Given the description of an element on the screen output the (x, y) to click on. 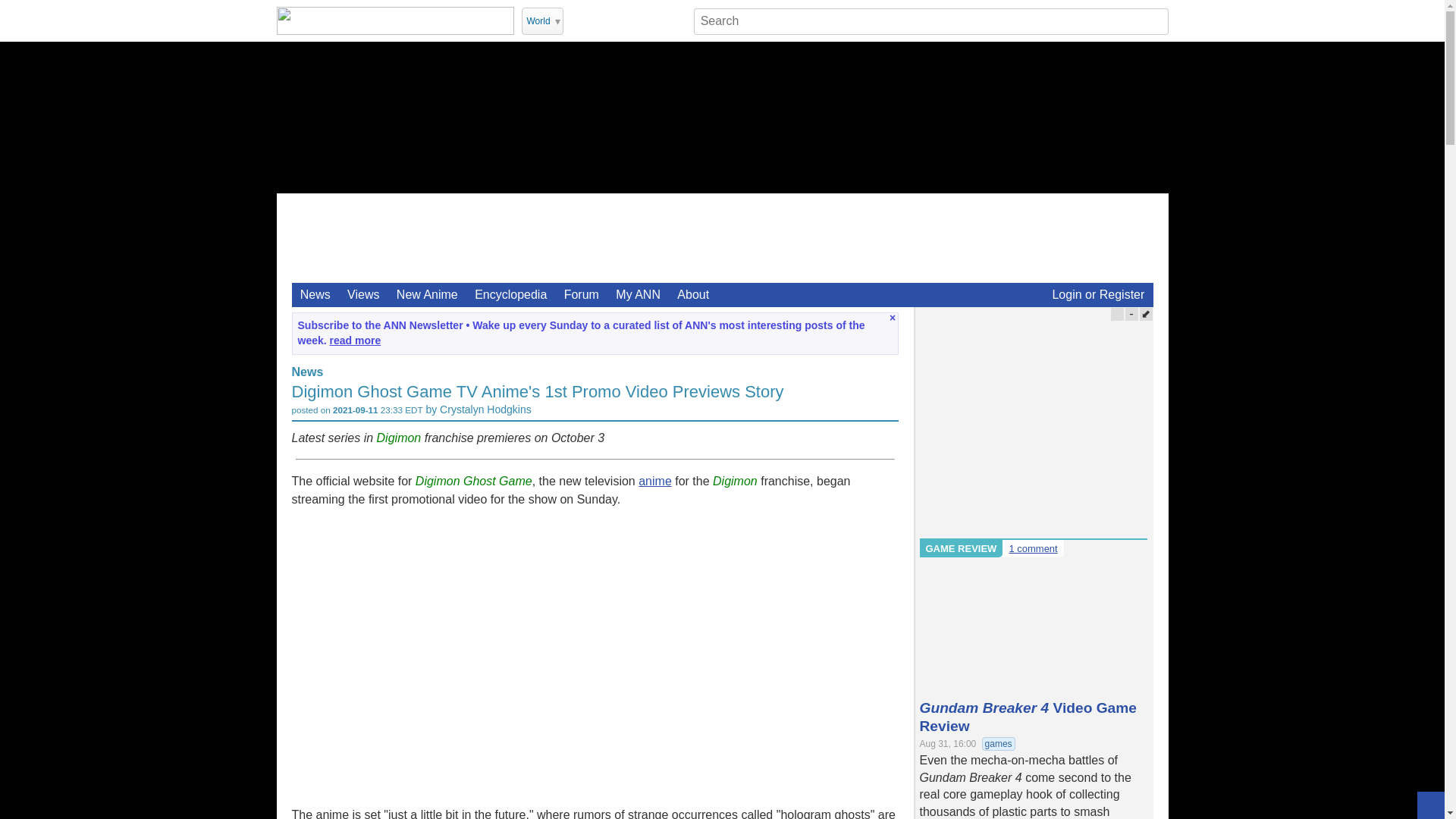
TikTok (656, 20)
Return to Homepage (394, 20)
Youtube (597, 20)
Bluesky (675, 20)
Twitter (577, 20)
Choose Your Edition (542, 21)
Instagram (636, 20)
Facebook (617, 20)
